Given the description of an element on the screen output the (x, y) to click on. 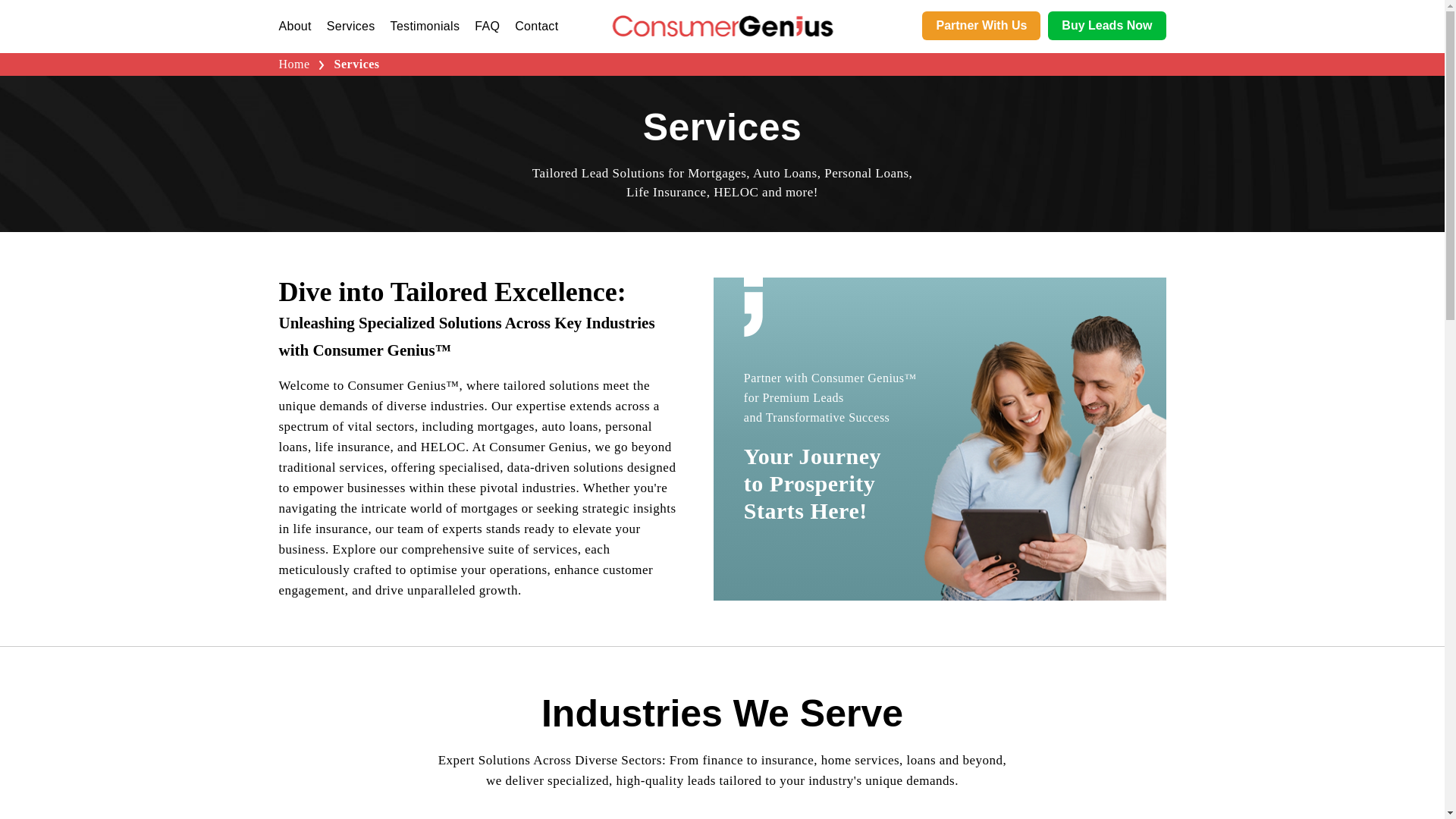
Home (296, 63)
Services (350, 25)
About (295, 25)
Buy Leads Now (1107, 25)
FAQ (486, 25)
Testimonials (425, 25)
Partner With Us (981, 25)
Contact (536, 25)
